Given the description of an element on the screen output the (x, y) to click on. 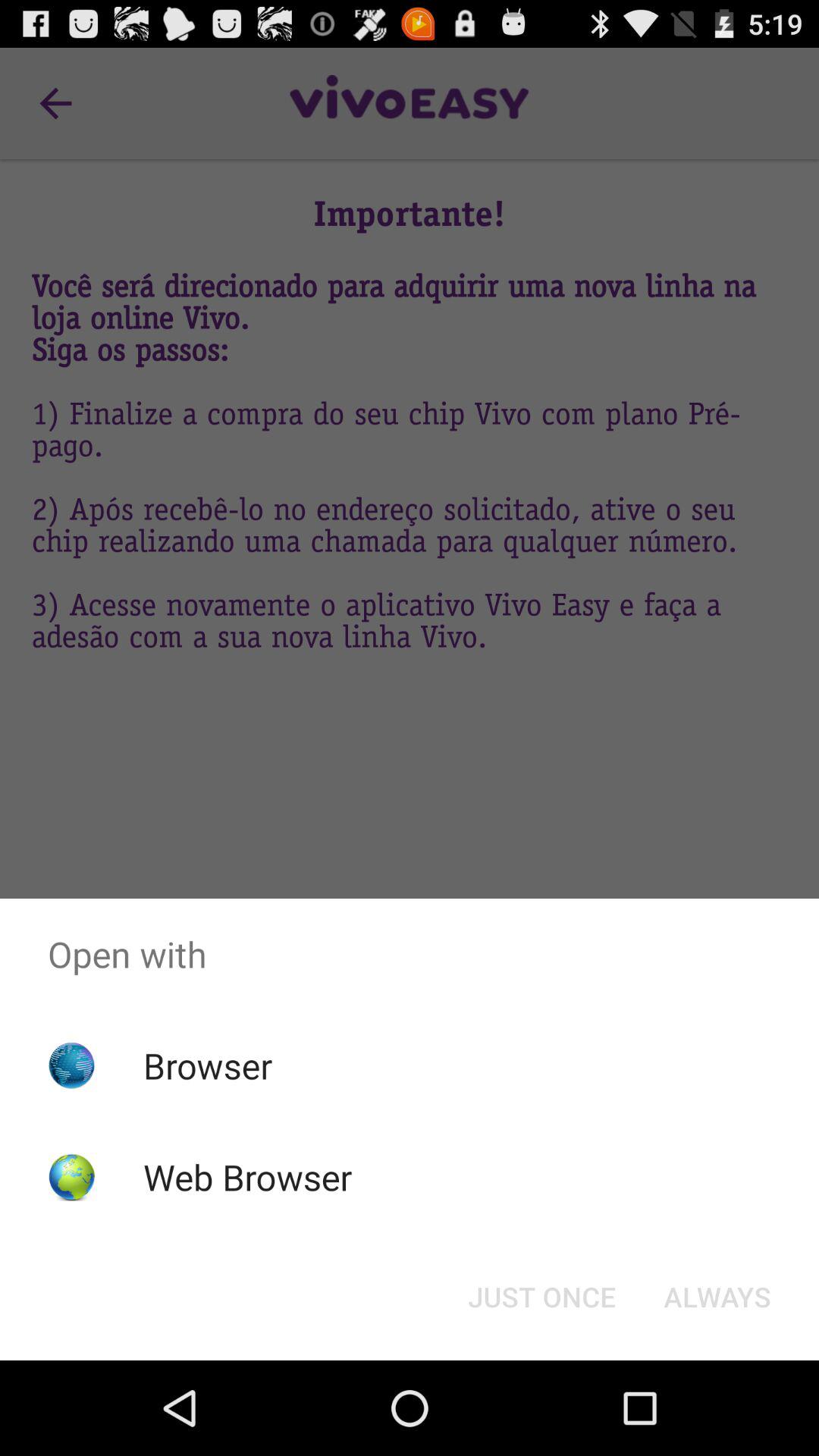
choose the app below open with app (717, 1296)
